Given the description of an element on the screen output the (x, y) to click on. 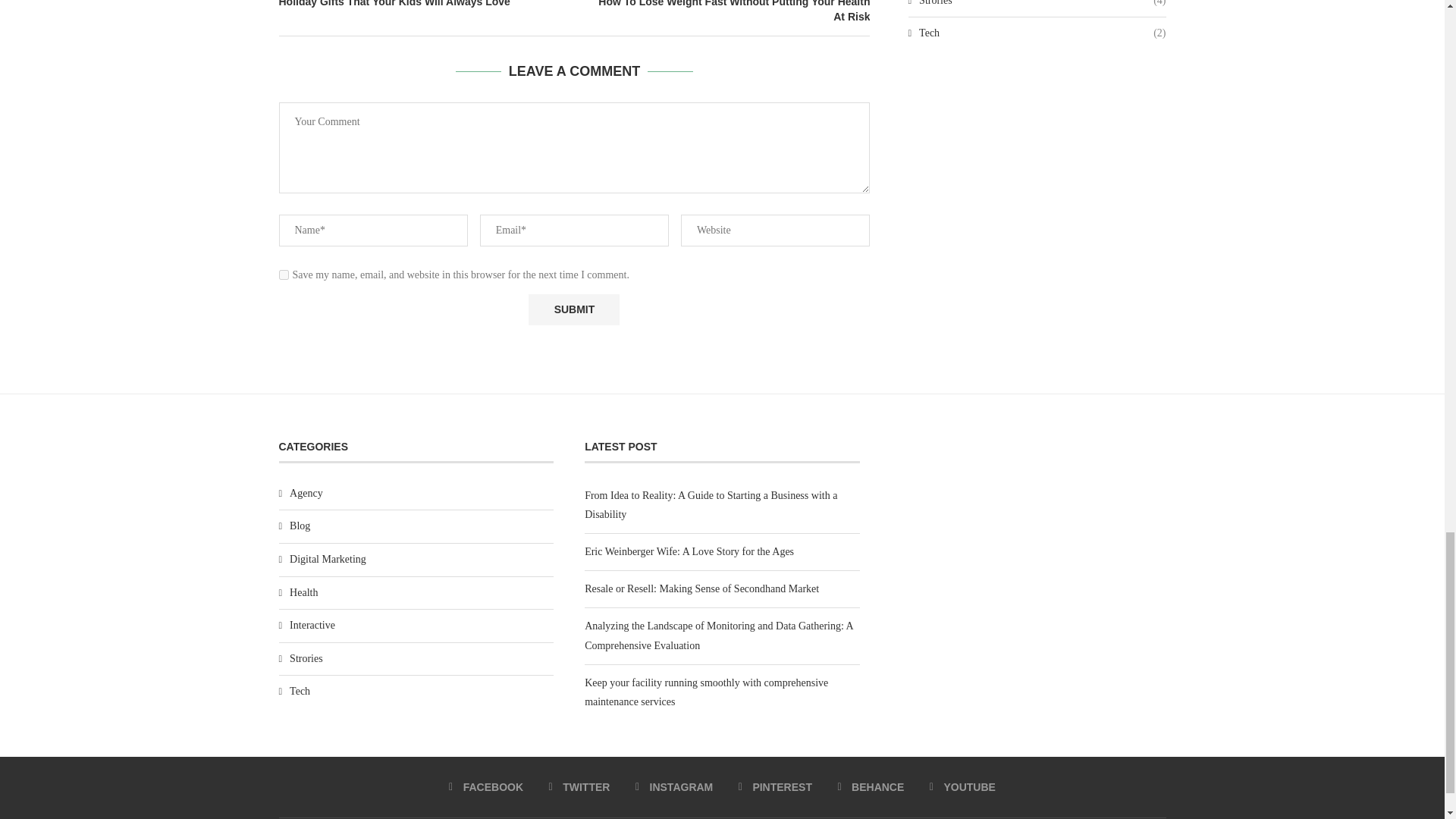
Submit (574, 309)
yes (283, 275)
Submit (574, 309)
Holiday Gifts That Your Kids Will Always Love (427, 4)
How To Lose Weight Fast Without Putting Your Health At Risk (722, 12)
